Given the description of an element on the screen output the (x, y) to click on. 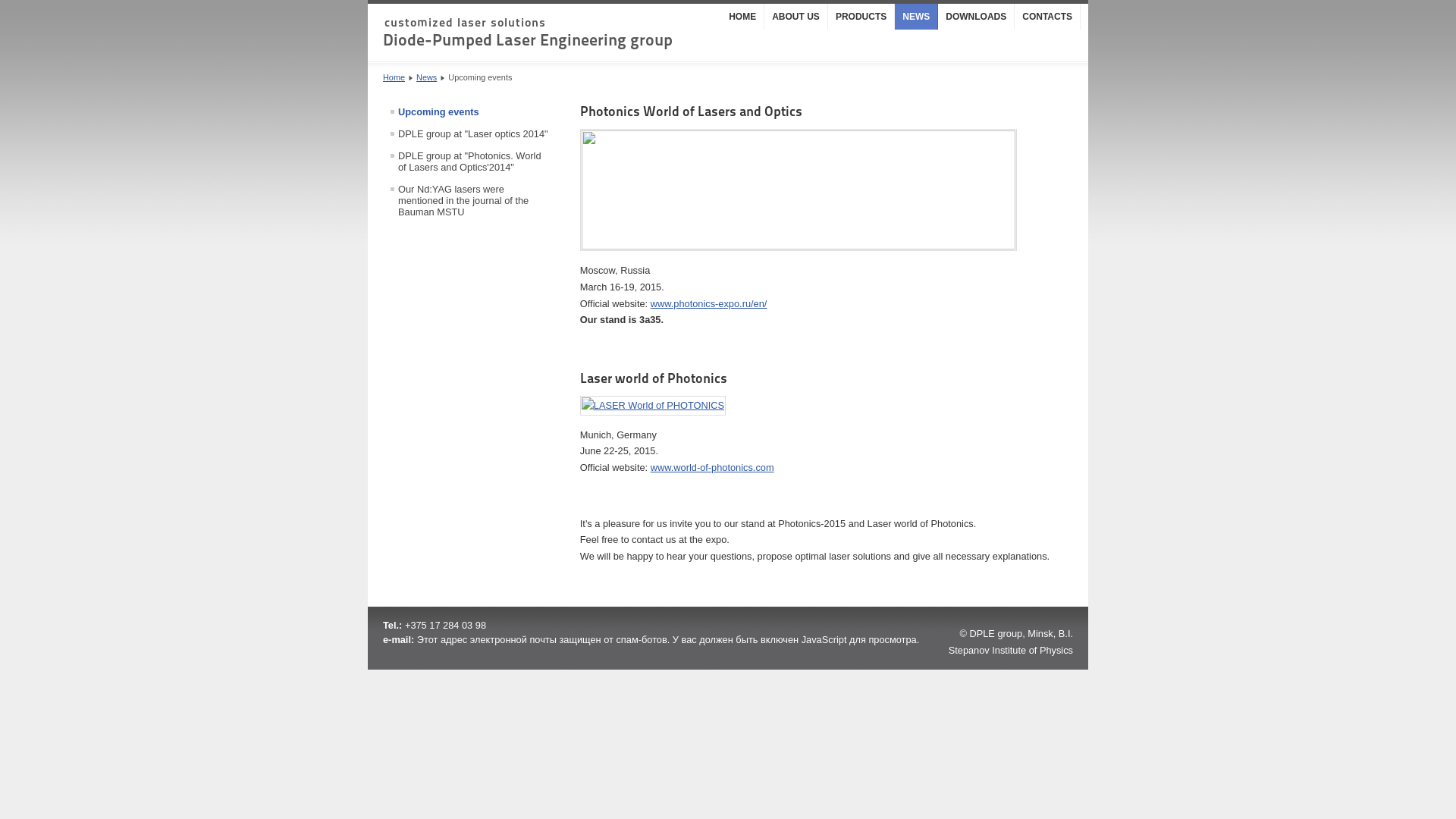
DOWNLOADS Element type: text (976, 16)
Home Element type: text (393, 76)
HOME Element type: text (742, 16)
Upcoming events Element type: text (469, 111)
CONTACTS Element type: text (1047, 16)
NEWS Element type: text (916, 16)
ABOUT US Element type: text (796, 16)
www.photonics-expo.ru/en/ Element type: text (708, 302)
PRODUCTS Element type: text (861, 16)
www.world-of-photonics.com Element type: text (712, 467)
DPLE group at "Laser optics 2014" Element type: text (469, 133)
News Element type: text (426, 76)
DPLE group at "Photonics. World of Lasers and Optics'2014" Element type: text (469, 161)
